Given the description of an element on the screen output the (x, y) to click on. 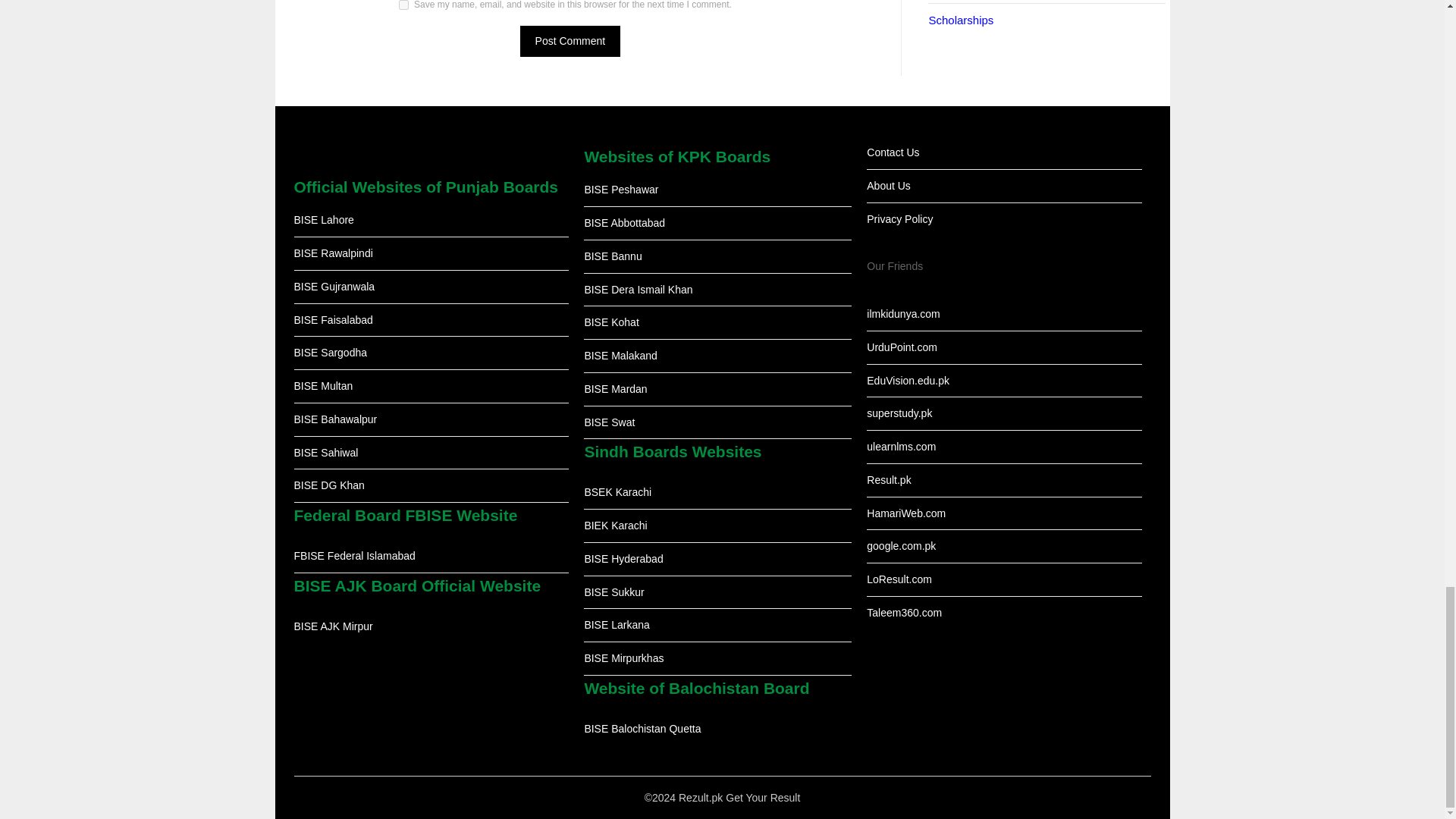
yes (403, 4)
Post Comment (570, 40)
Post Comment (570, 40)
